Given the description of an element on the screen output the (x, y) to click on. 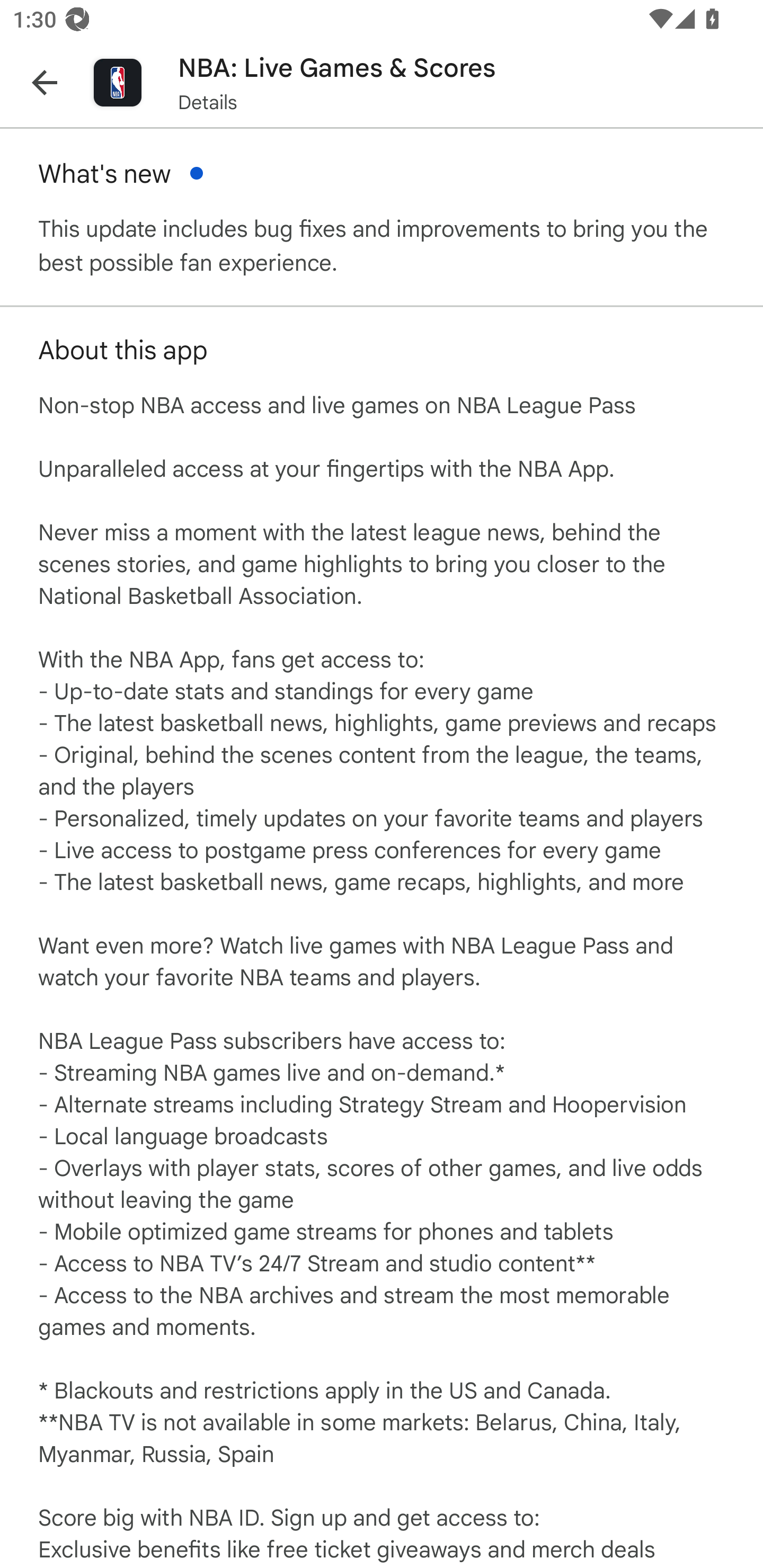
Navigate up (44, 82)
